Given the description of an element on the screen output the (x, y) to click on. 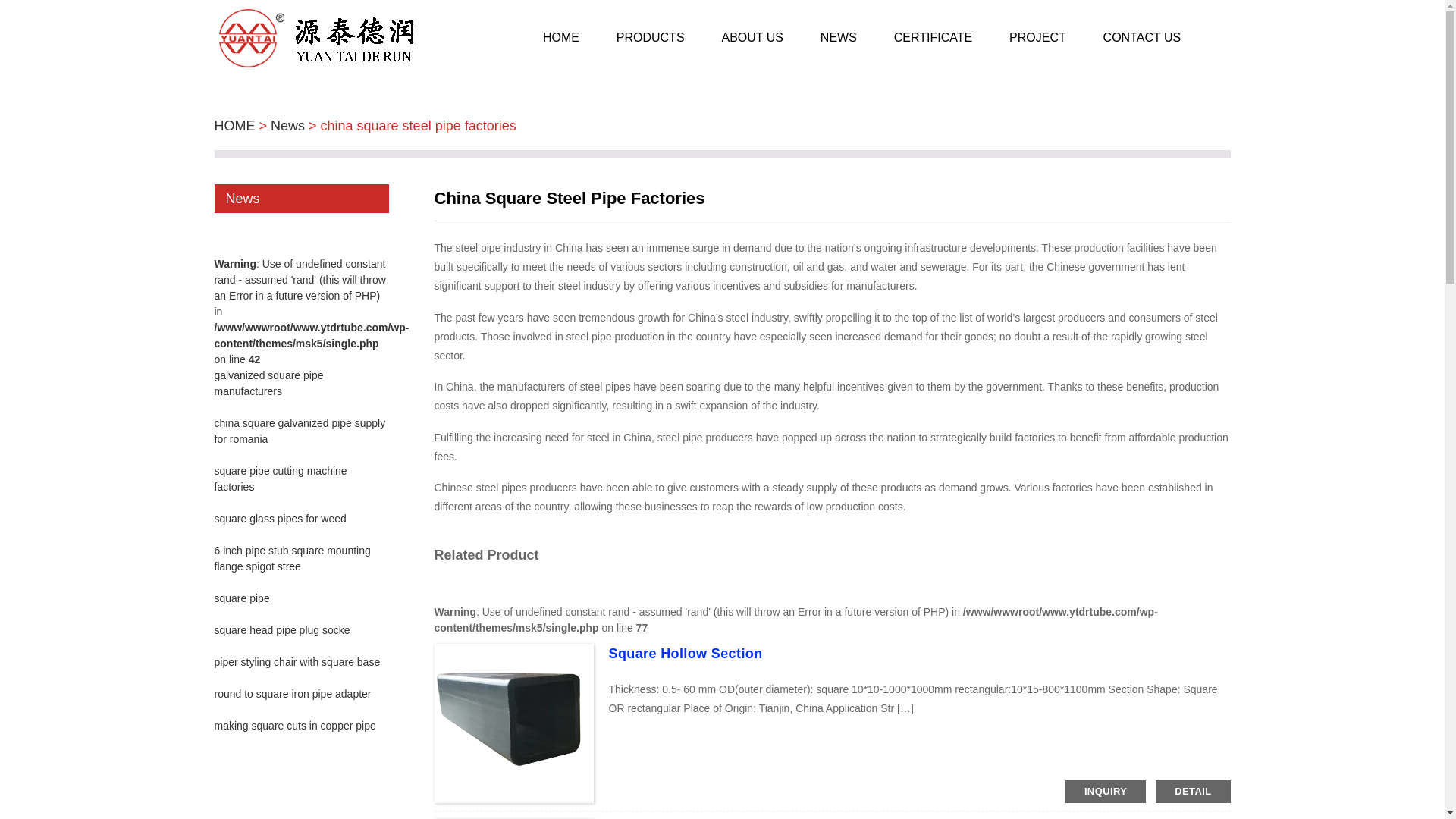
china square galvanized pipe supply for romania (299, 430)
6 inch pipe stub square mounting flange spigot stree (291, 558)
square pipe (241, 598)
square pipe cutting machine factories (280, 479)
square head pipe plug socke (281, 630)
Square Hollow Section (684, 653)
making square cuts in copper pipe (294, 725)
PRODUCTS (649, 37)
News (287, 125)
round to square iron pipe adapter (292, 693)
making square cuts in copper pipe (294, 725)
piper styling chair with square base (297, 662)
PROJECT (1037, 37)
galvanized square pipe manufacturers (268, 383)
HOME (234, 125)
